Given the description of an element on the screen output the (x, y) to click on. 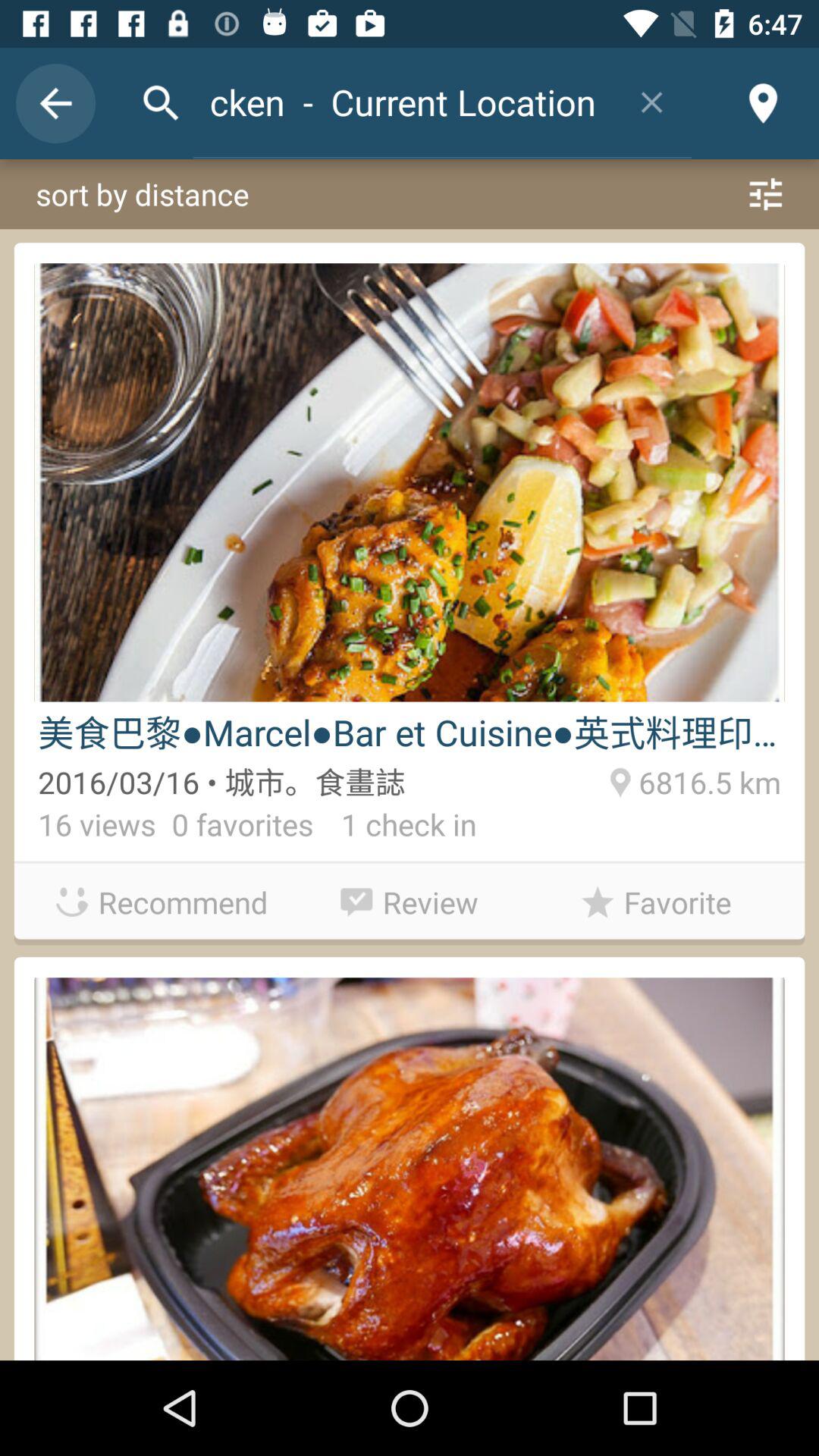
turn on item to the left of the favorite (409, 898)
